Given the description of an element on the screen output the (x, y) to click on. 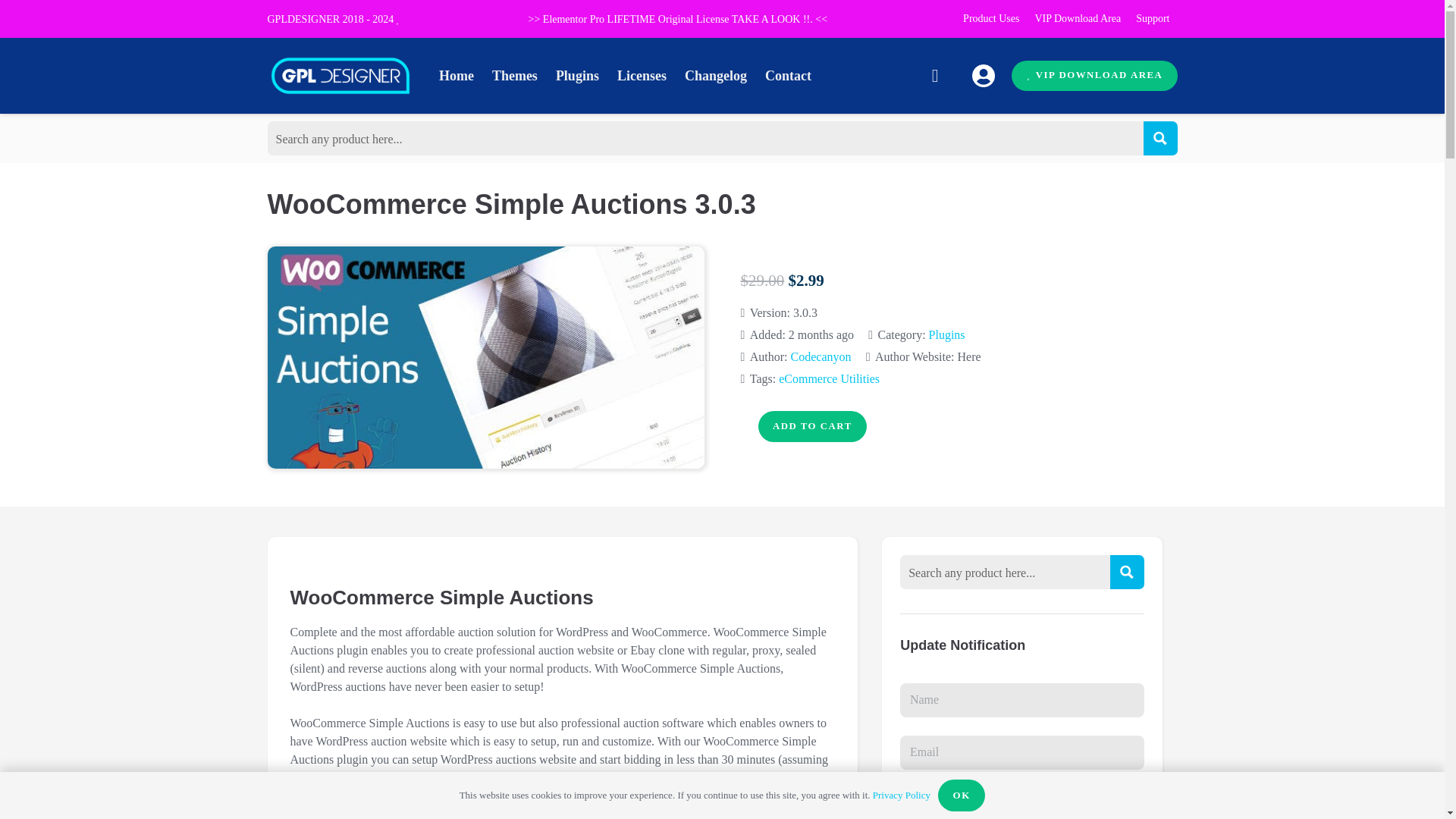
VIP Download Area (1077, 18)
ADD TO CART (812, 426)
Plugins (946, 334)
Support (1152, 18)
eCommerce Utilities (828, 378)
Product Uses (990, 18)
Codecanyon (820, 356)
22 June 2024 at 14:05:19 -03:00 (796, 334)
Licenses (641, 75)
VIP DOWNLOAD AREA (1093, 75)
